Given the description of an element on the screen output the (x, y) to click on. 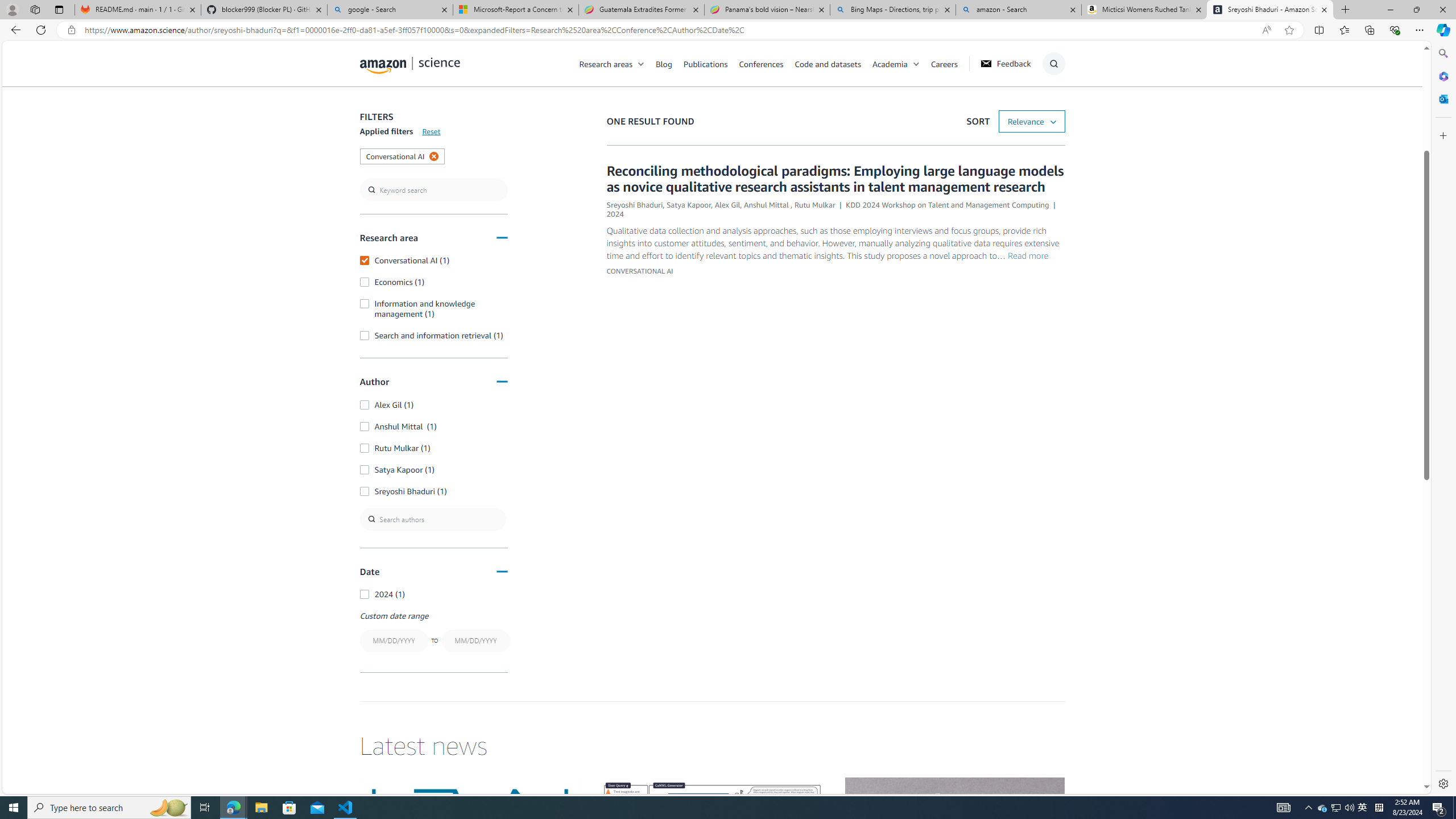
Academia (901, 63)
search (433, 190)
Publications (705, 63)
Custom date rangeTO (433, 632)
Satya Kapoor (688, 204)
Rutu Mulkar (814, 204)
